Given the description of an element on the screen output the (x, y) to click on. 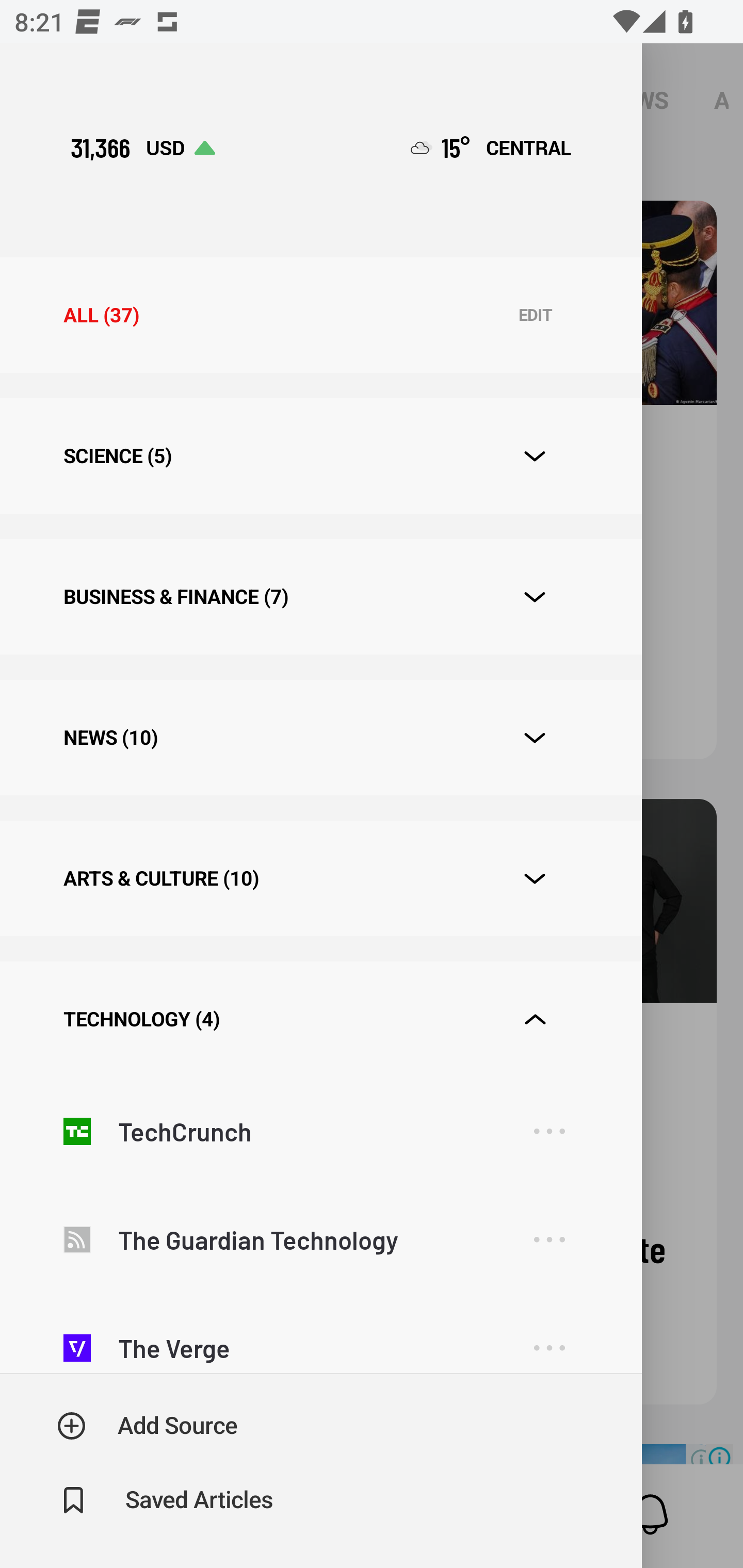
31,366 USD Current State of the Currency (142, 147)
Current State of the Weather 15° CENTRAL (490, 147)
ALL  (37) EDIT (320, 315)
EDIT (534, 315)
SCIENCE  (5) Expand Button (320, 456)
Expand Button (534, 456)
BUSINESS & FINANCE  (7) Expand Button (320, 596)
Expand Button (534, 597)
NEWS  (10) Expand Button (320, 737)
Expand Button (534, 737)
ARTS & CULTURE  (10) Expand Button (320, 878)
Expand Button (534, 878)
Expand Button (534, 1019)
Writer Logo TechCrunch More Options (320, 1131)
More Options (548, 1131)
RSS Feed Icon The Guardian Technology More Options (320, 1239)
More Options (548, 1239)
Writer Logo The Verge More Options (320, 1333)
More Options (548, 1338)
Open Content Store Add Source (147, 1425)
Open Saved News  Saved Articles (166, 1500)
